Given the description of an element on the screen output the (x, y) to click on. 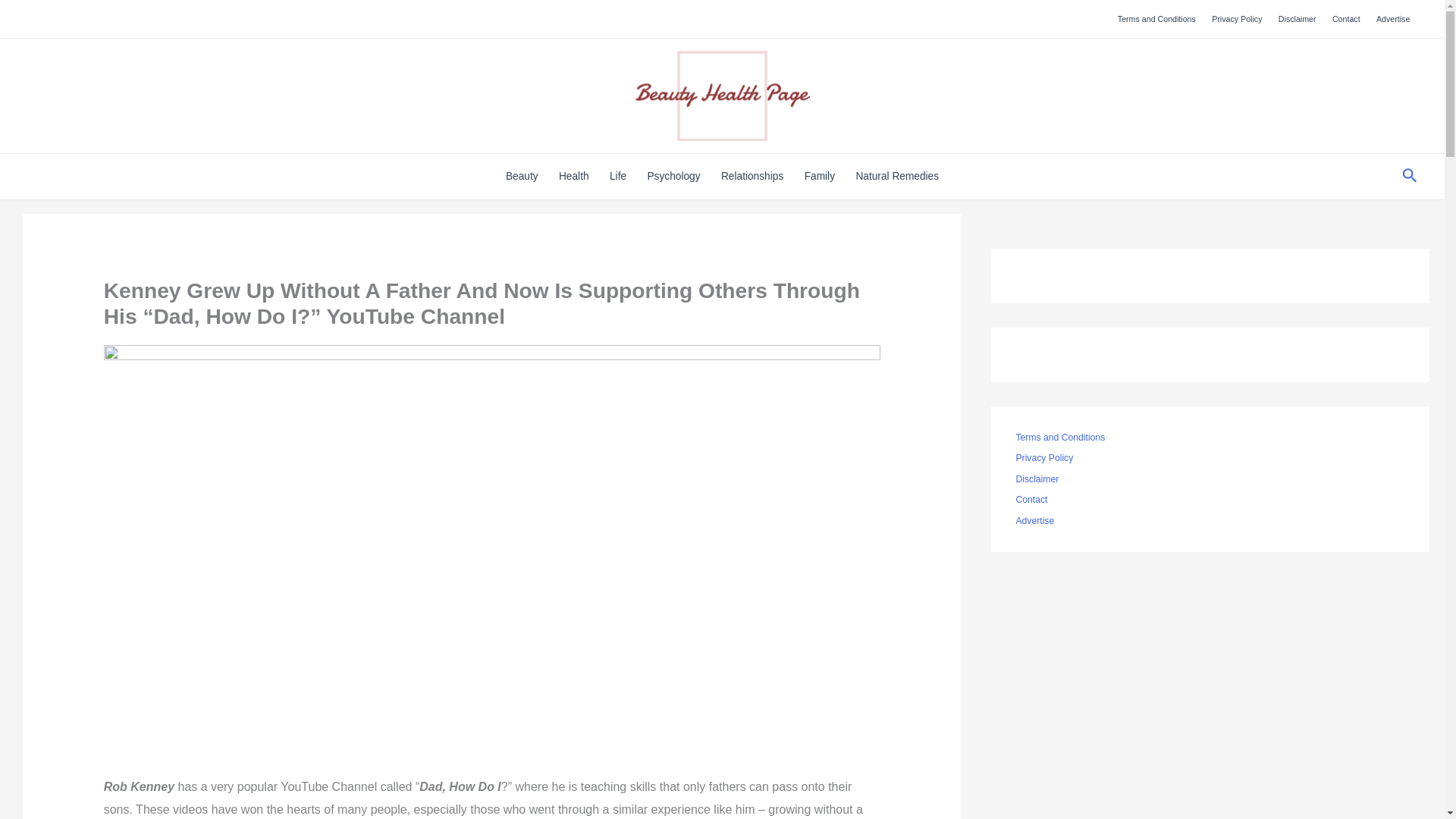
Family (819, 176)
Contact (1345, 18)
Relationships (751, 176)
Psychology (673, 176)
Health (573, 176)
Natural Remedies (897, 176)
Beauty (521, 176)
Advertise (1393, 18)
Disclaimer (1296, 18)
Privacy Policy (1237, 18)
Terms and Conditions (1156, 18)
